Given the description of an element on the screen output the (x, y) to click on. 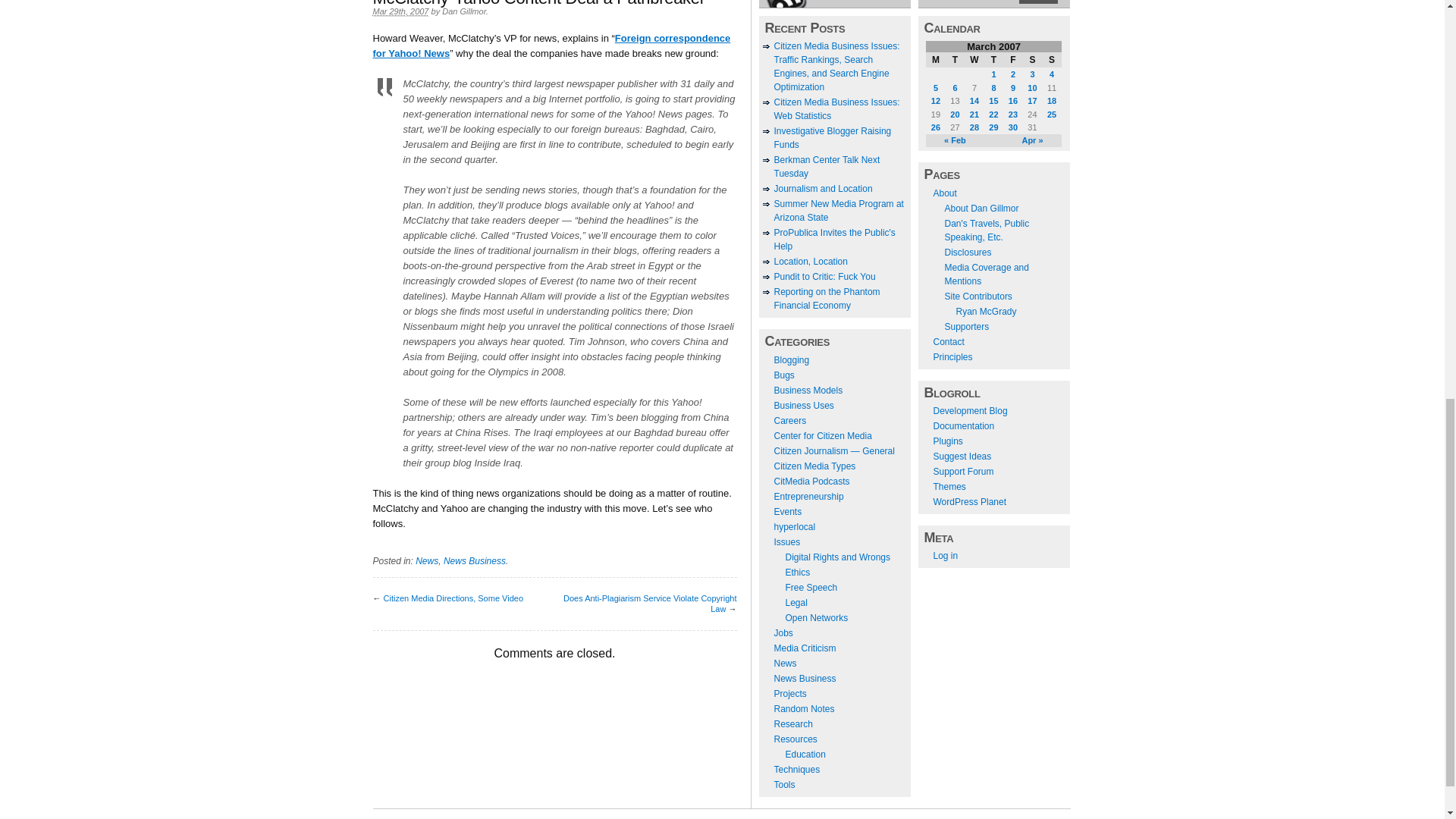
News about citizen media from around the Web (784, 663)
Summer New Media Program at Arizona State (837, 210)
Pundit to Critic: Fuck You (824, 276)
Journalism and Location (822, 188)
Free Speech (812, 587)
Investigative Blogger Raising Funds (832, 137)
Search (1038, 2)
Citizen Media Business Issues: Web Statistics (836, 109)
Business Models (808, 389)
Careers (789, 420)
hyperlocal (794, 526)
Center for Citizen Media (821, 435)
Thursday (994, 59)
